Given the description of an element on the screen output the (x, y) to click on. 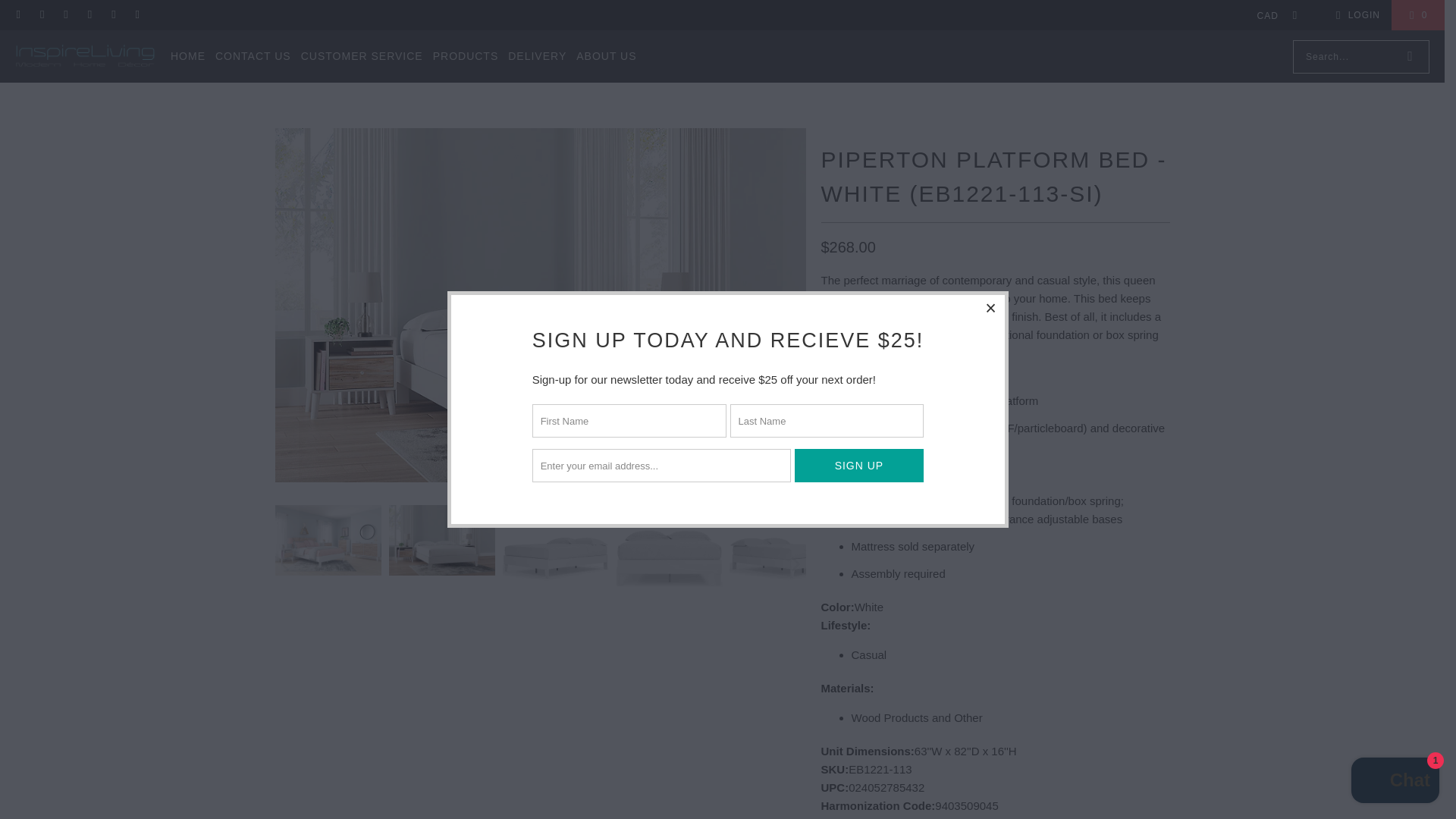
Email InspireLiving (17, 14)
InspireLiving on Instagram (89, 14)
InspireLiving (84, 56)
Sign Up (859, 465)
InspireLiving on Pinterest (112, 14)
InspireLiving on Facebook (41, 14)
InspireLiving on Houzz (65, 14)
My Account  (1355, 14)
InspireLiving on Twitter (136, 14)
